Given the description of an element on the screen output the (x, y) to click on. 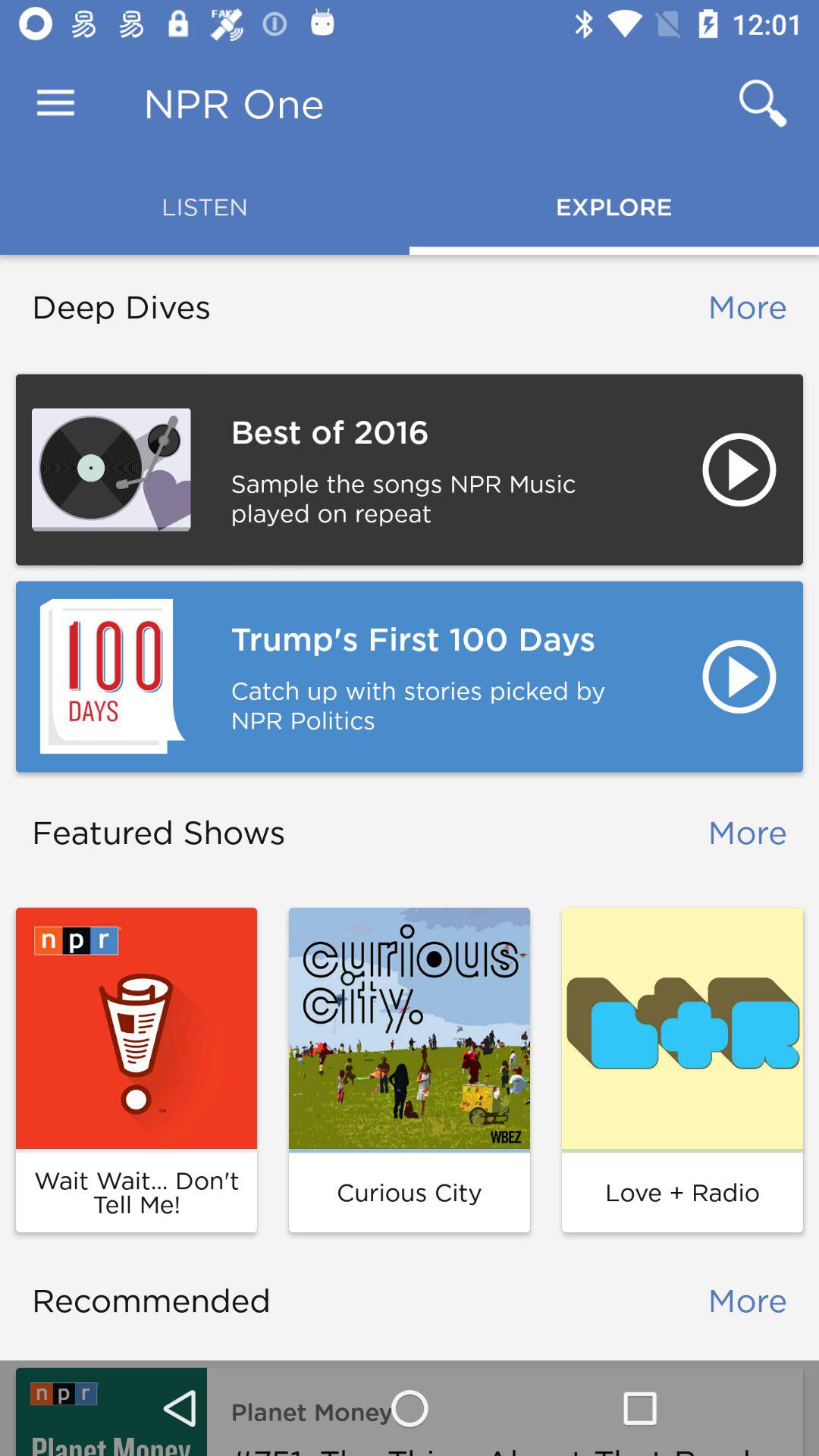
tap icon next to npr one item (55, 103)
